Given the description of an element on the screen output the (x, y) to click on. 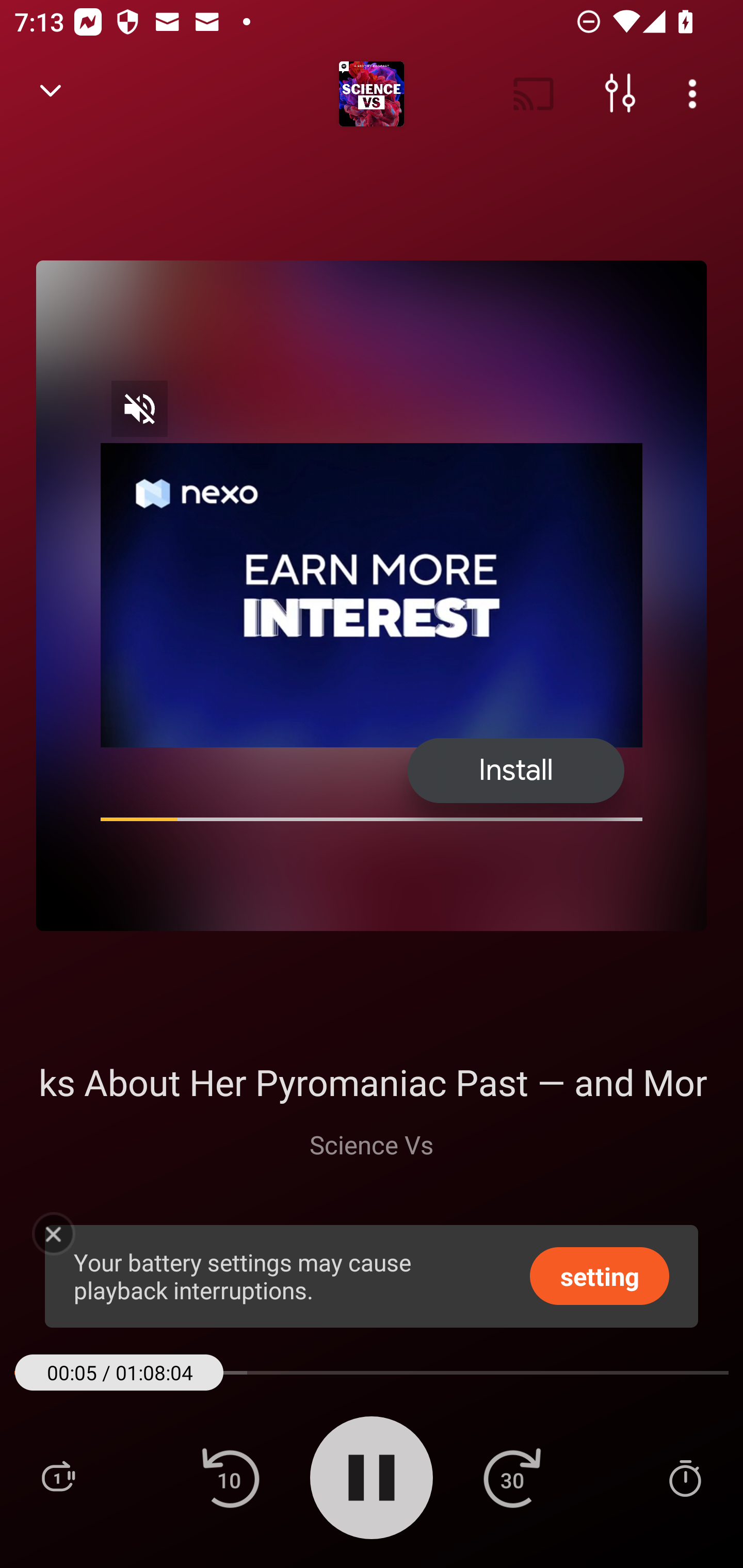
Cast. Disconnected (533, 93)
 Back (50, 94)
Science Vs (371, 1144)
setting (599, 1275)
 Playlist (57, 1477)
Sleep Timer  (684, 1477)
